Given the description of an element on the screen output the (x, y) to click on. 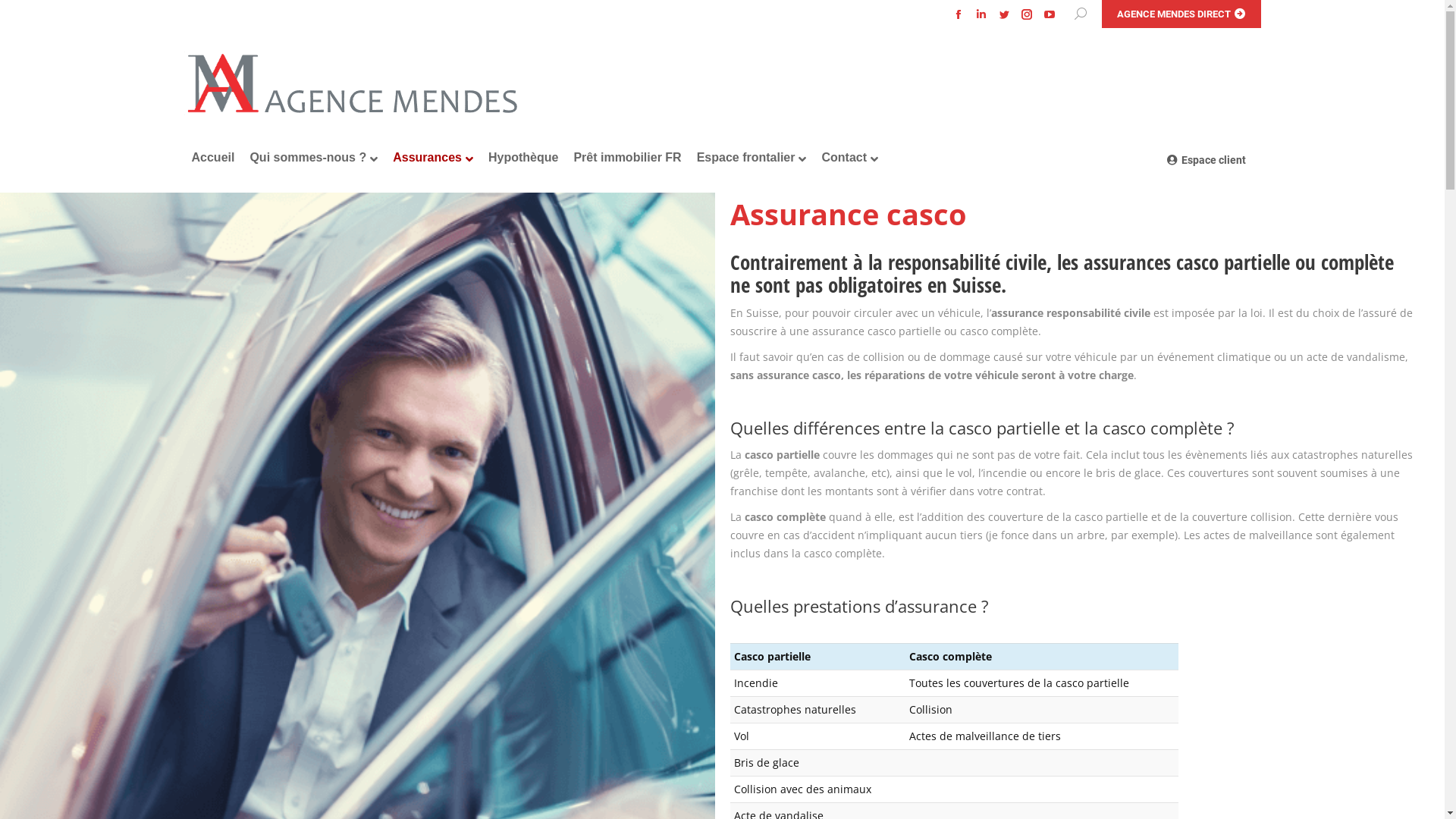
Accueil Element type: text (212, 157)
Espace client Element type: text (1205, 157)
YouTube page opens in new window Element type: text (1048, 14)
Contact Element type: text (849, 157)
Aller ! Element type: text (29, 16)
Qui sommes-nous ? Element type: text (313, 157)
Instagram page opens in new window Element type: text (1025, 14)
Twitter page opens in new window Element type: text (1003, 14)
AGENCE MENDES DIRECT Element type: text (1180, 14)
Facebook page opens in new window Element type: text (957, 14)
Espace frontalier Element type: text (751, 157)
LinkedIn page opens in new window Element type: text (980, 14)
Assurances Element type: text (432, 157)
